Given the description of an element on the screen output the (x, y) to click on. 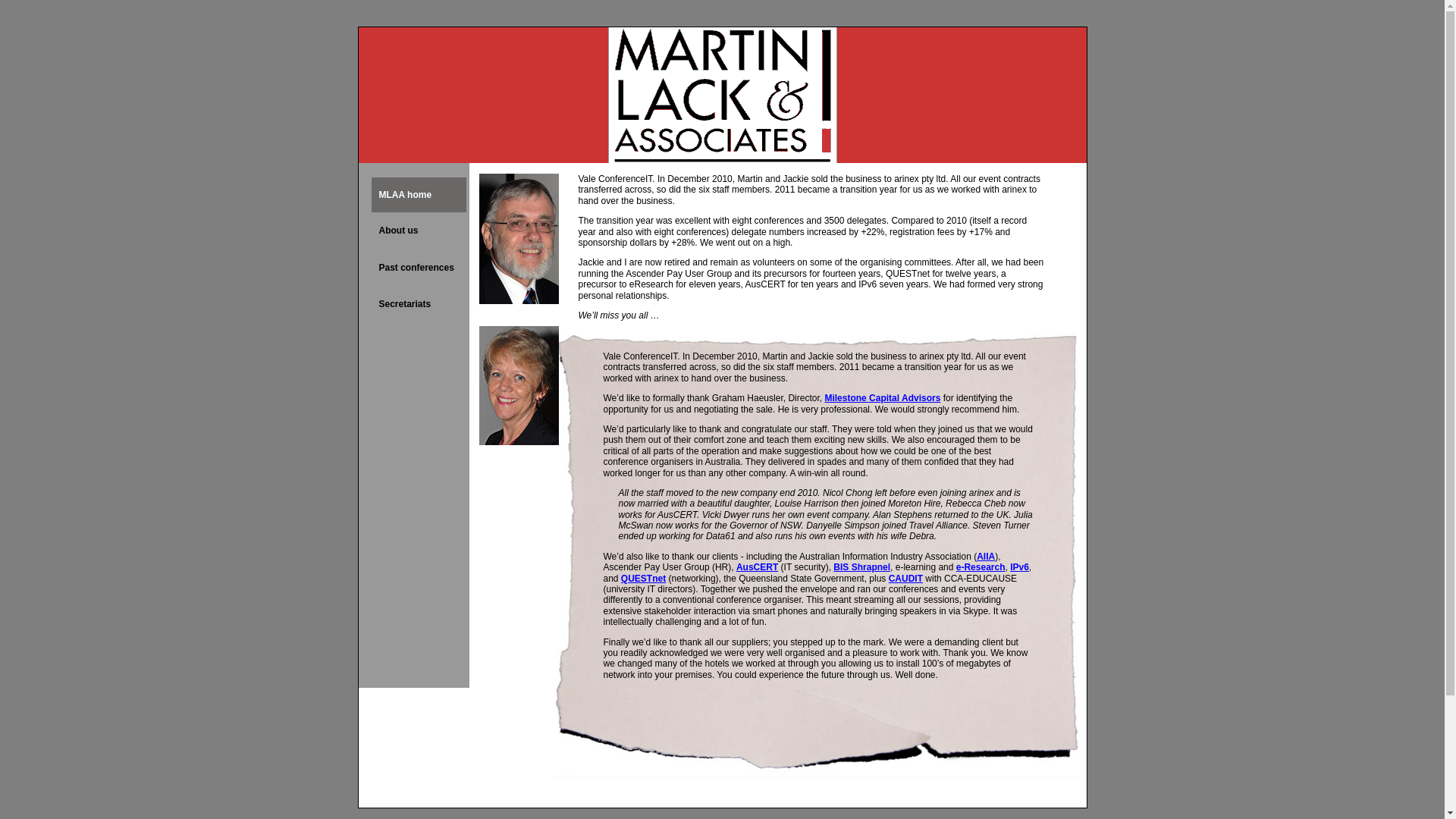
About us Element type: text (418, 230)
Milestone Capital Advisors Element type: text (882, 397)
e-Research Element type: text (980, 566)
BIS Shrapnel Element type: text (861, 566)
IPv6 Element type: text (1019, 566)
AusCERT Element type: text (757, 566)
AIIA Element type: text (985, 556)
MLAA home Element type: text (418, 194)
Secretariats Element type: text (418, 304)
Past conferences Element type: text (418, 267)
CAUDIT Element type: text (905, 578)
QUESTnet Element type: text (643, 578)
